Given the description of an element on the screen output the (x, y) to click on. 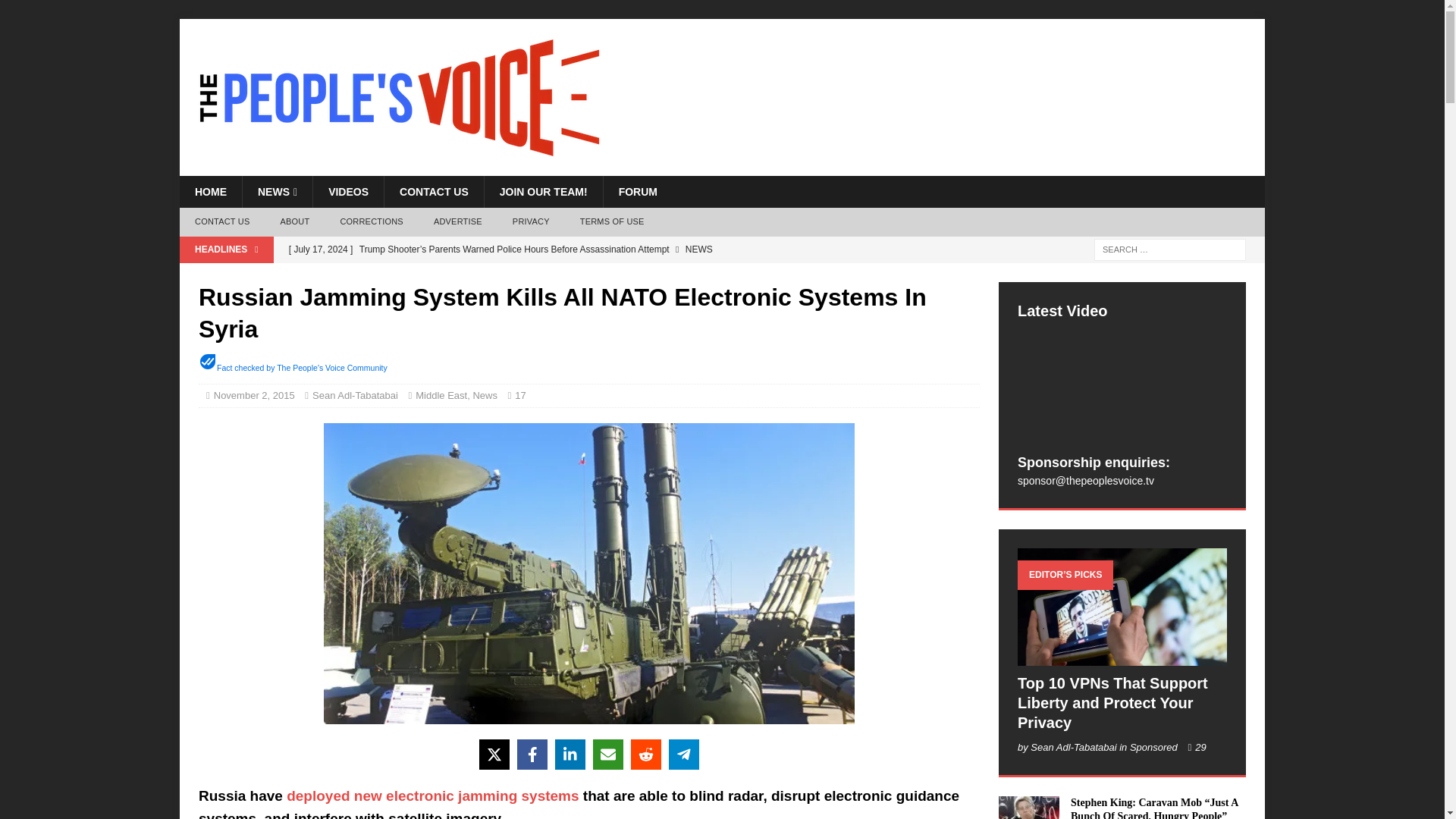
VIDEOS (348, 192)
NEWS (277, 192)
ADVERTISE (458, 222)
TERMS OF USE (611, 222)
PRIVACY (530, 222)
CORRECTIONS (370, 222)
JOIN OUR TEAM! (542, 192)
HOME (210, 192)
CONTACT US (433, 192)
CONTACT US (221, 222)
ABOUT (294, 222)
FORUM (637, 192)
